Given the description of an element on the screen output the (x, y) to click on. 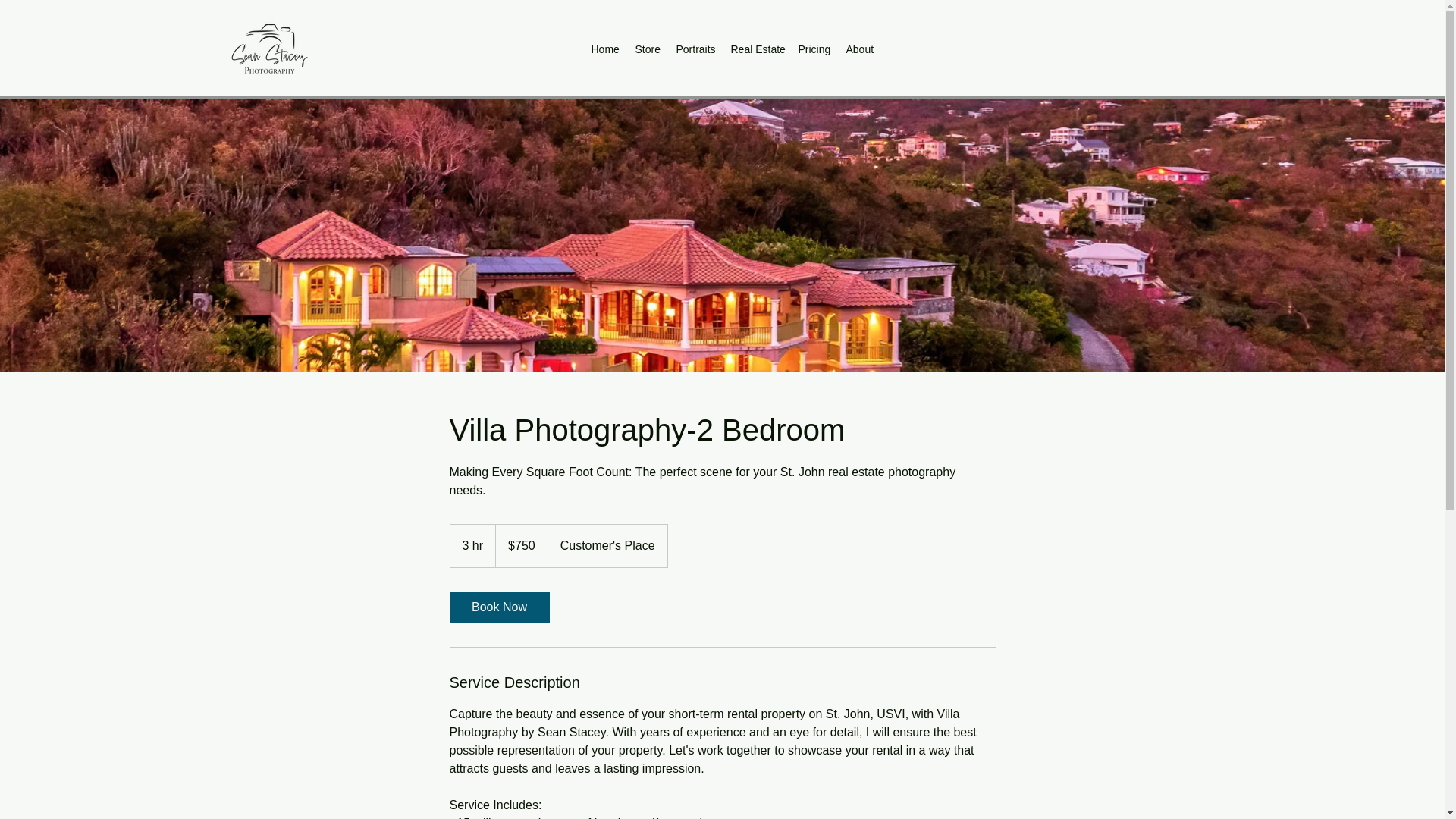
About (860, 49)
Real Estate (756, 49)
Portraits (695, 49)
Home (605, 49)
Pricing (814, 49)
Store (647, 49)
Book Now (498, 607)
